Given the description of an element on the screen output the (x, y) to click on. 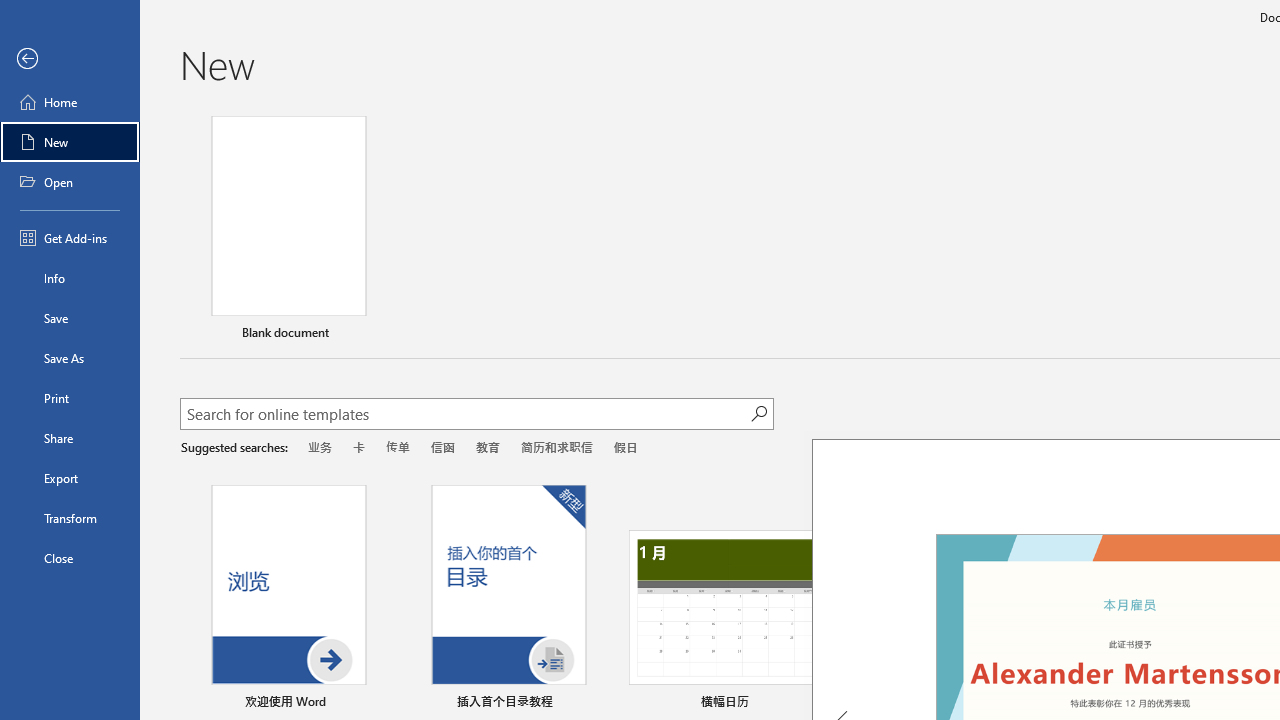
New (69, 141)
Transform (69, 517)
Blank document (288, 231)
